Given the description of an element on the screen output the (x, y) to click on. 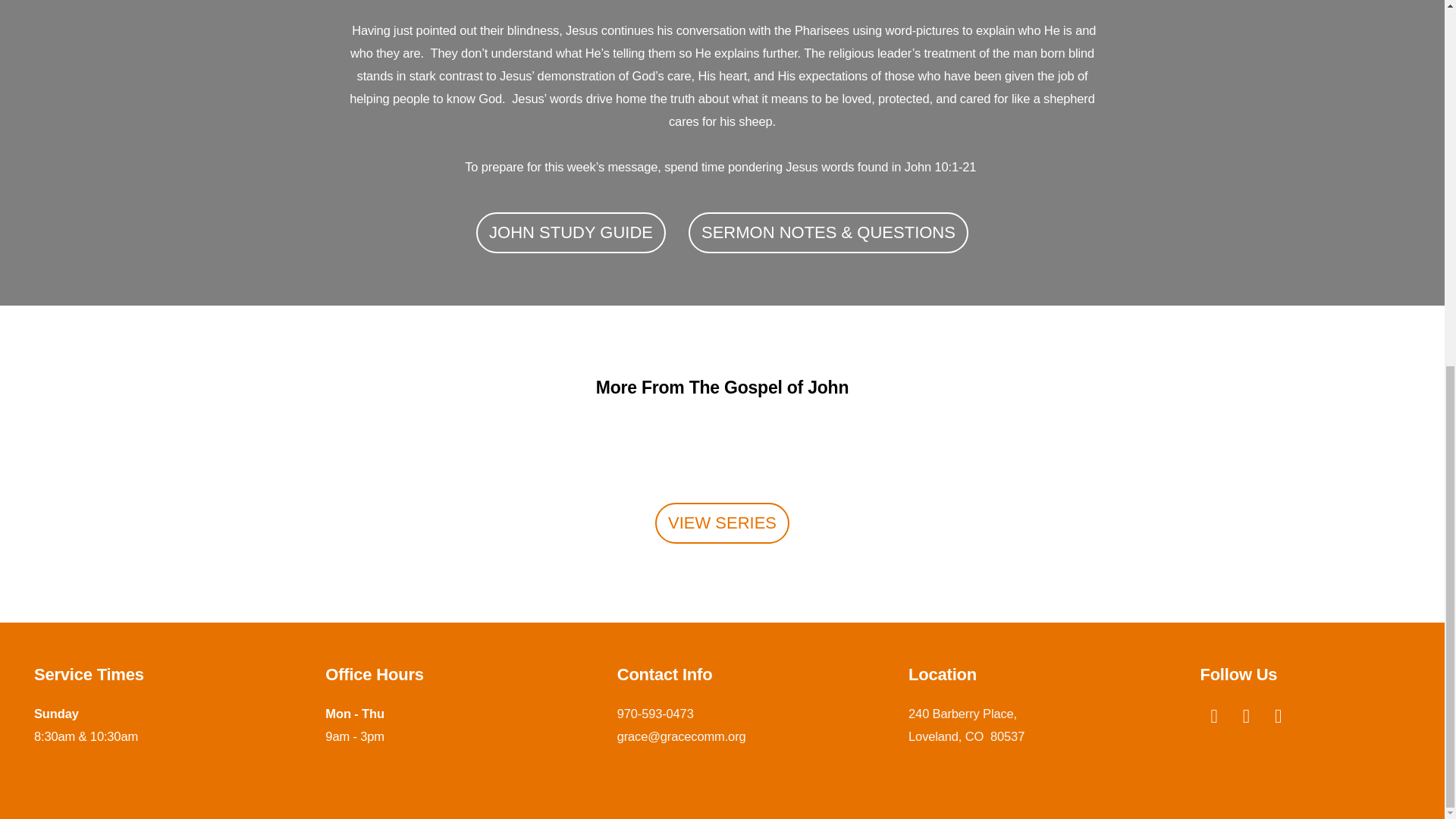
970-593-0473 (655, 713)
VIEW SERIES (722, 522)
JOHN STUDY GUIDE (570, 232)
240 Barberry Place,  (964, 713)
Loveland, CO  80537 (966, 735)
